Given the description of an element on the screen output the (x, y) to click on. 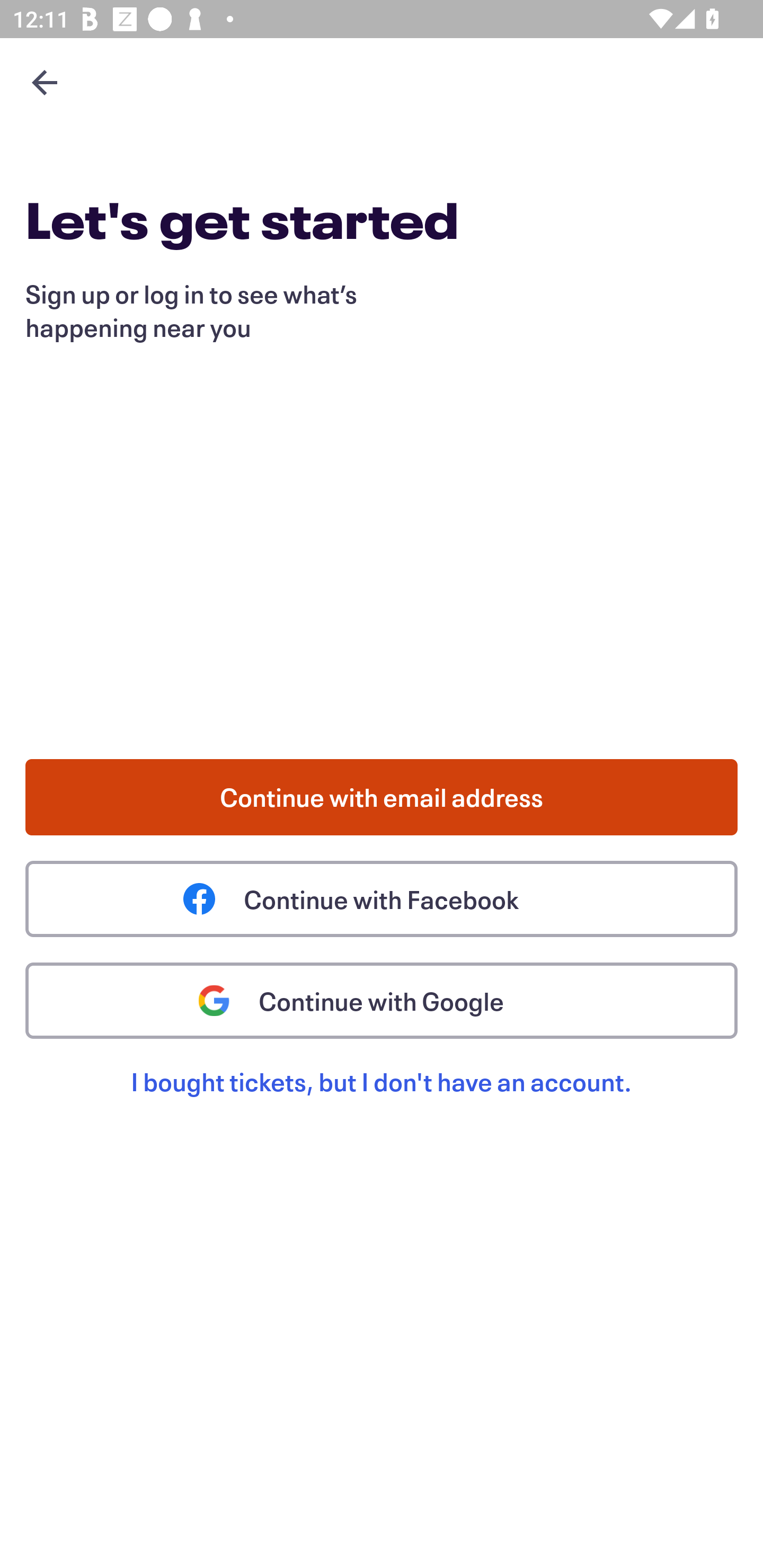
Navigate up (44, 82)
Continue with email address (381, 796)
I bought tickets, but I don't have an account. (381, 1101)
